Given the description of an element on the screen output the (x, y) to click on. 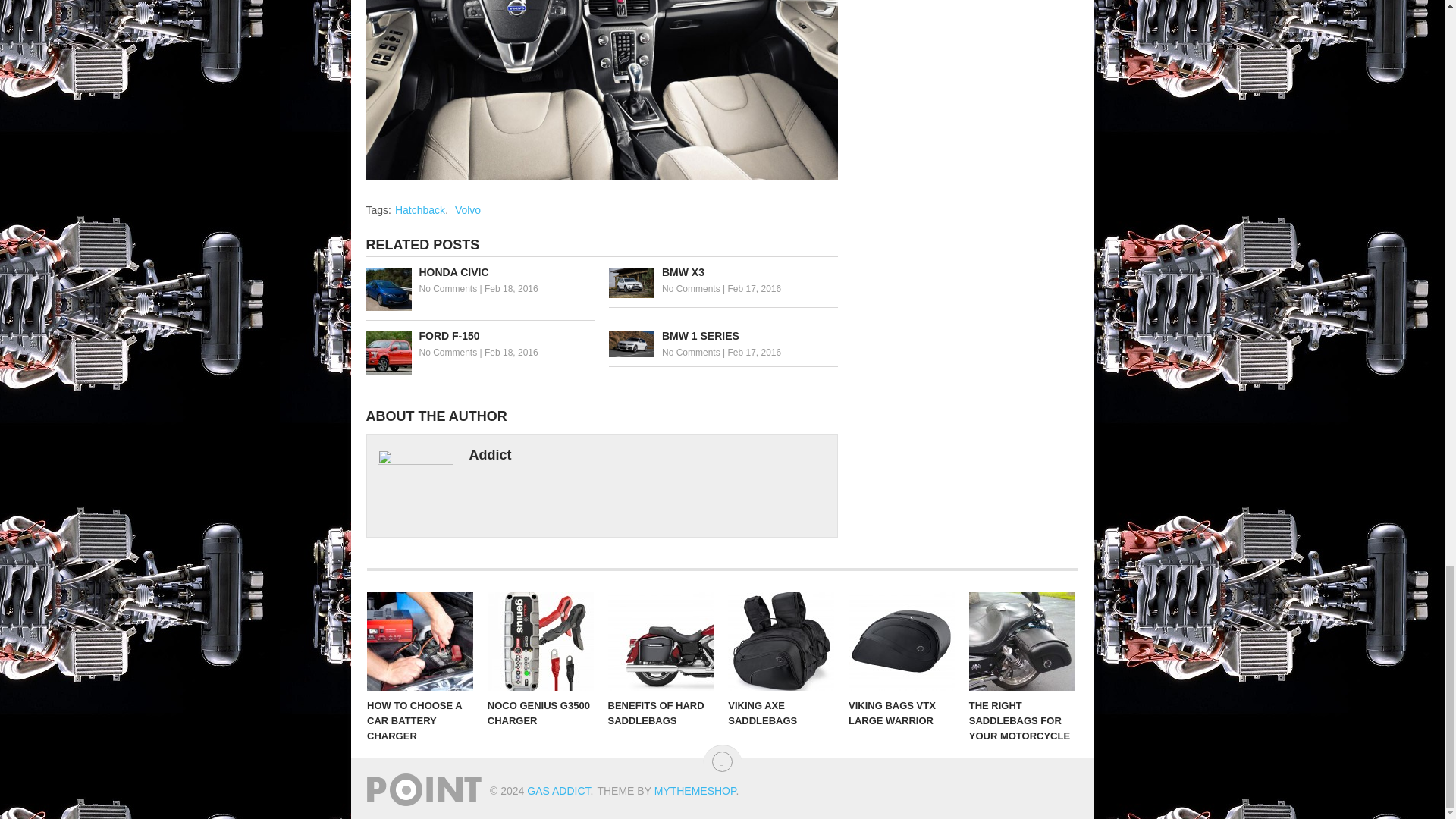
Volvo (467, 209)
No Comments (448, 288)
Honda Civic (479, 272)
BMW X3 (723, 272)
Ford F-150 (479, 335)
No Comments (691, 352)
BMW 1 Series (723, 335)
Hatchback (419, 209)
FORD F-150 (479, 335)
BMW 1 SERIES (723, 335)
BMW X3 (723, 272)
No Comments (691, 288)
No Comments (448, 352)
HONDA CIVIC (479, 272)
